Given the description of an element on the screen output the (x, y) to click on. 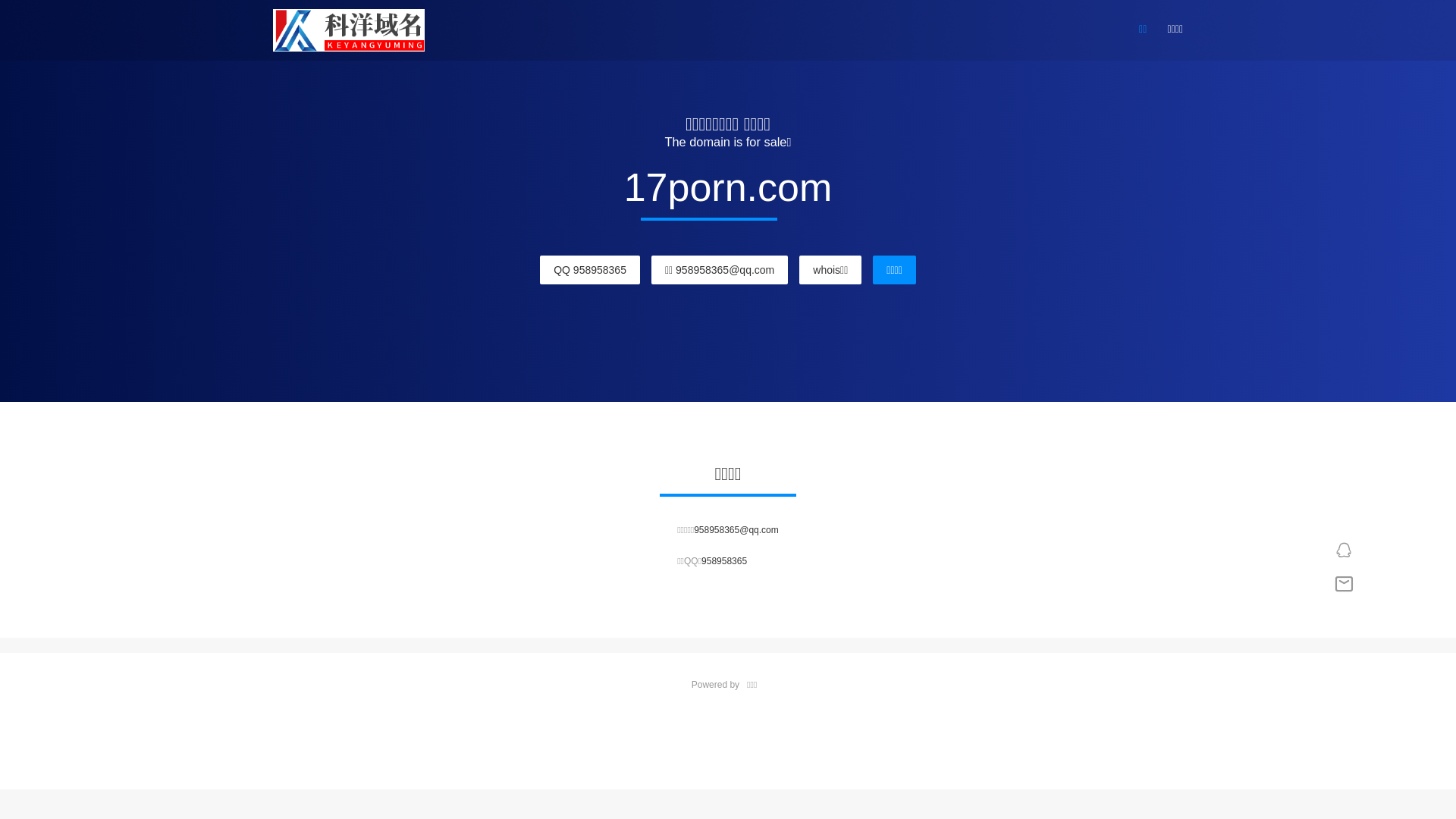
QQ 958958365 Element type: text (589, 269)
